Given the description of an element on the screen output the (x, y) to click on. 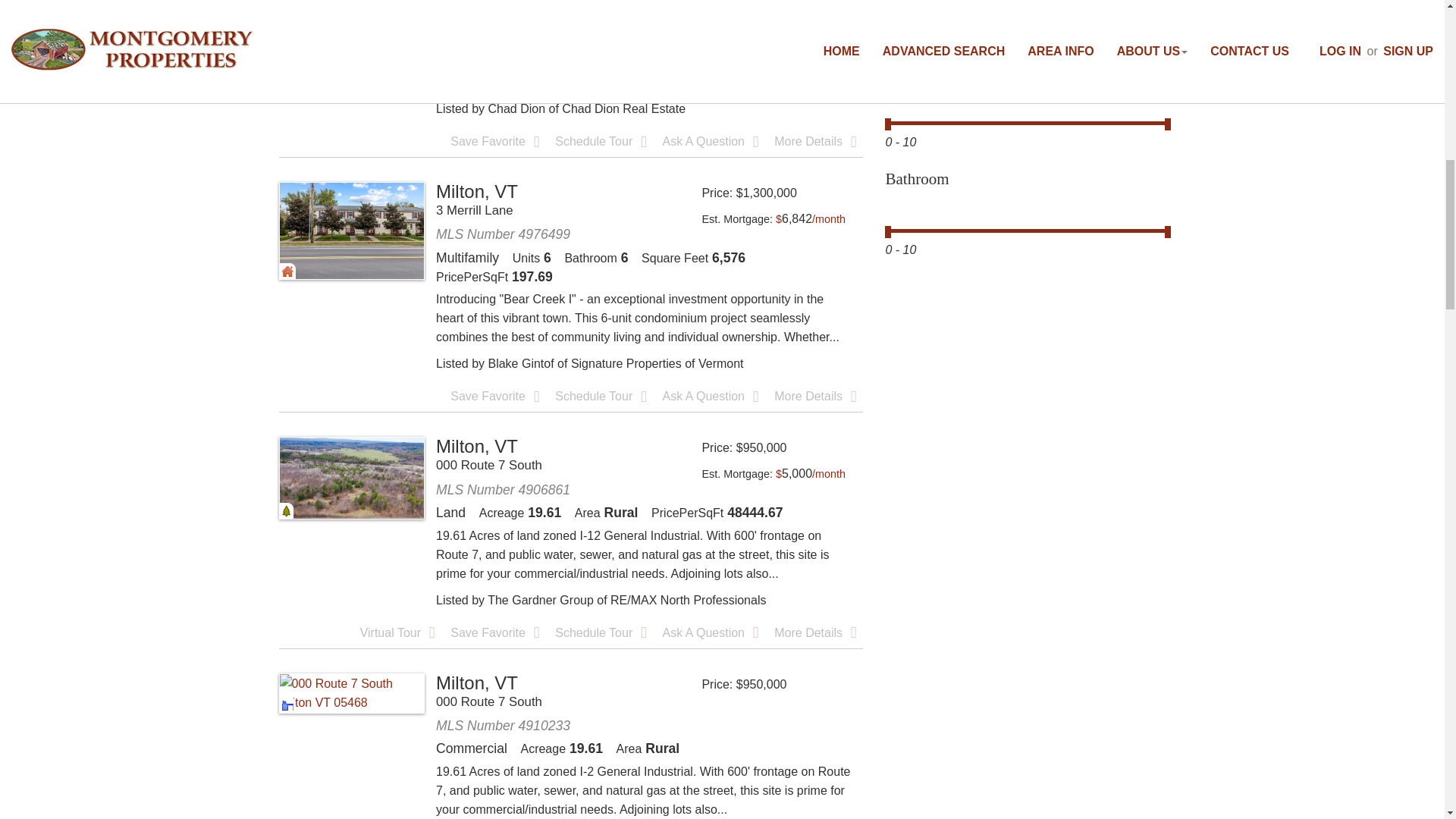
Favorite (494, 395)
More Details (814, 141)
Schedule Tour (600, 395)
Ask A Question (710, 395)
Favorite (494, 632)
More Details (814, 395)
Virtual Tour (397, 632)
click to adjust (810, 473)
click to adjust (810, 218)
Ask A Question (710, 141)
Favorite (494, 141)
Schedule Tour (600, 141)
Schedule Tour (600, 632)
Ask A Question (710, 632)
